Given the description of an element on the screen output the (x, y) to click on. 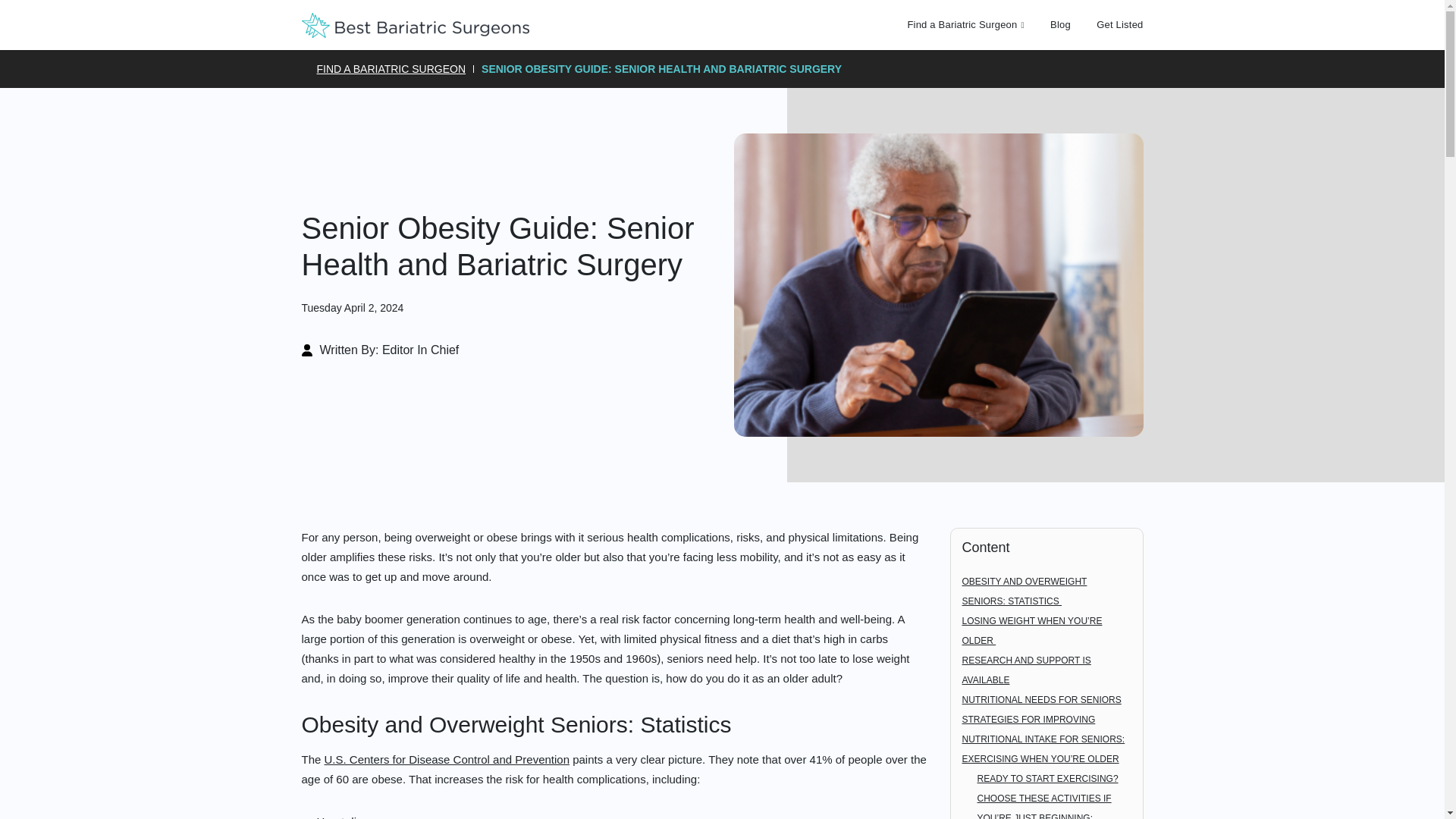
Find a Bariatric Surgeon (961, 24)
